Given the description of an element on the screen output the (x, y) to click on. 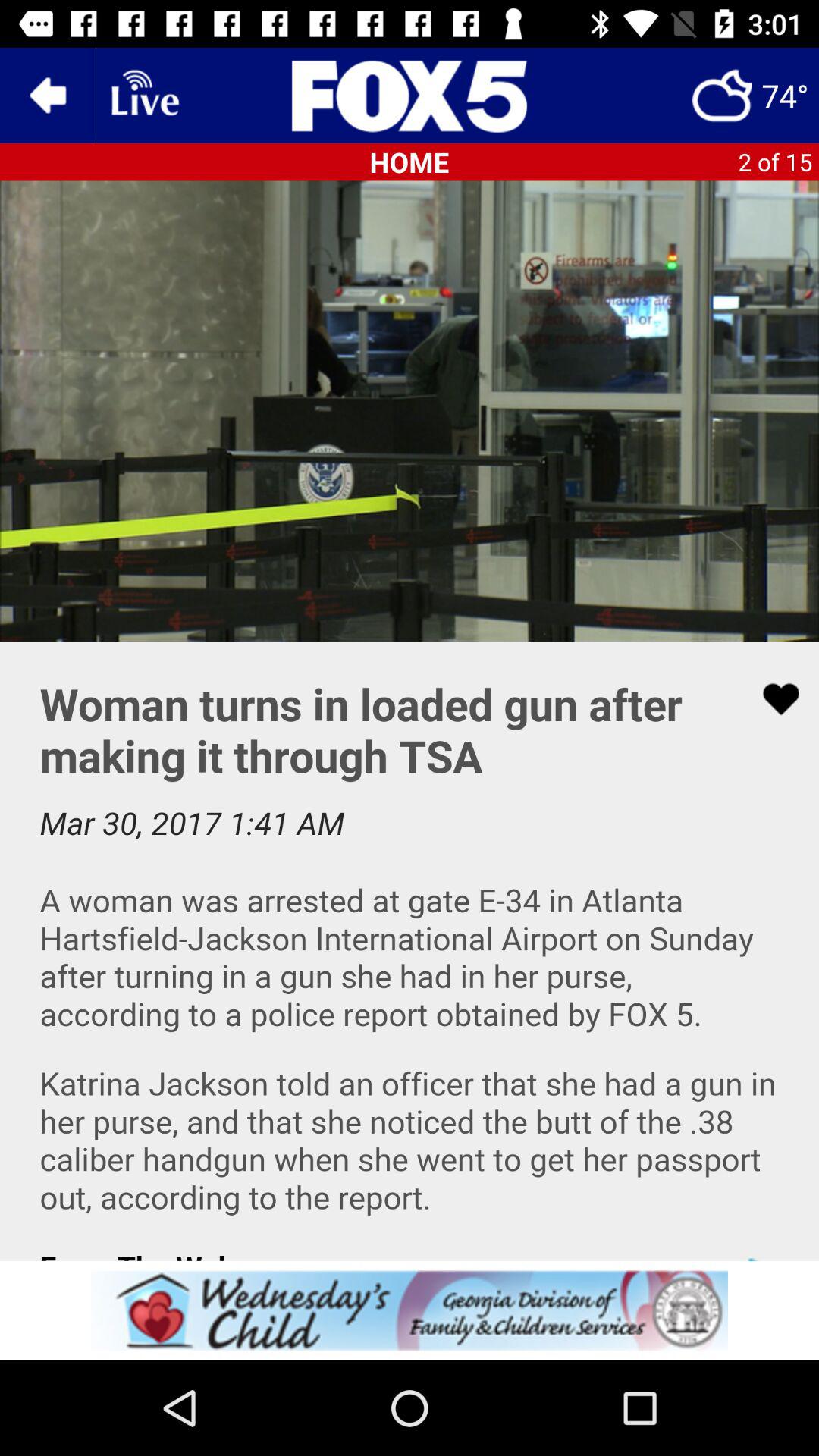
advertising (409, 1310)
